Given the description of an element on the screen output the (x, y) to click on. 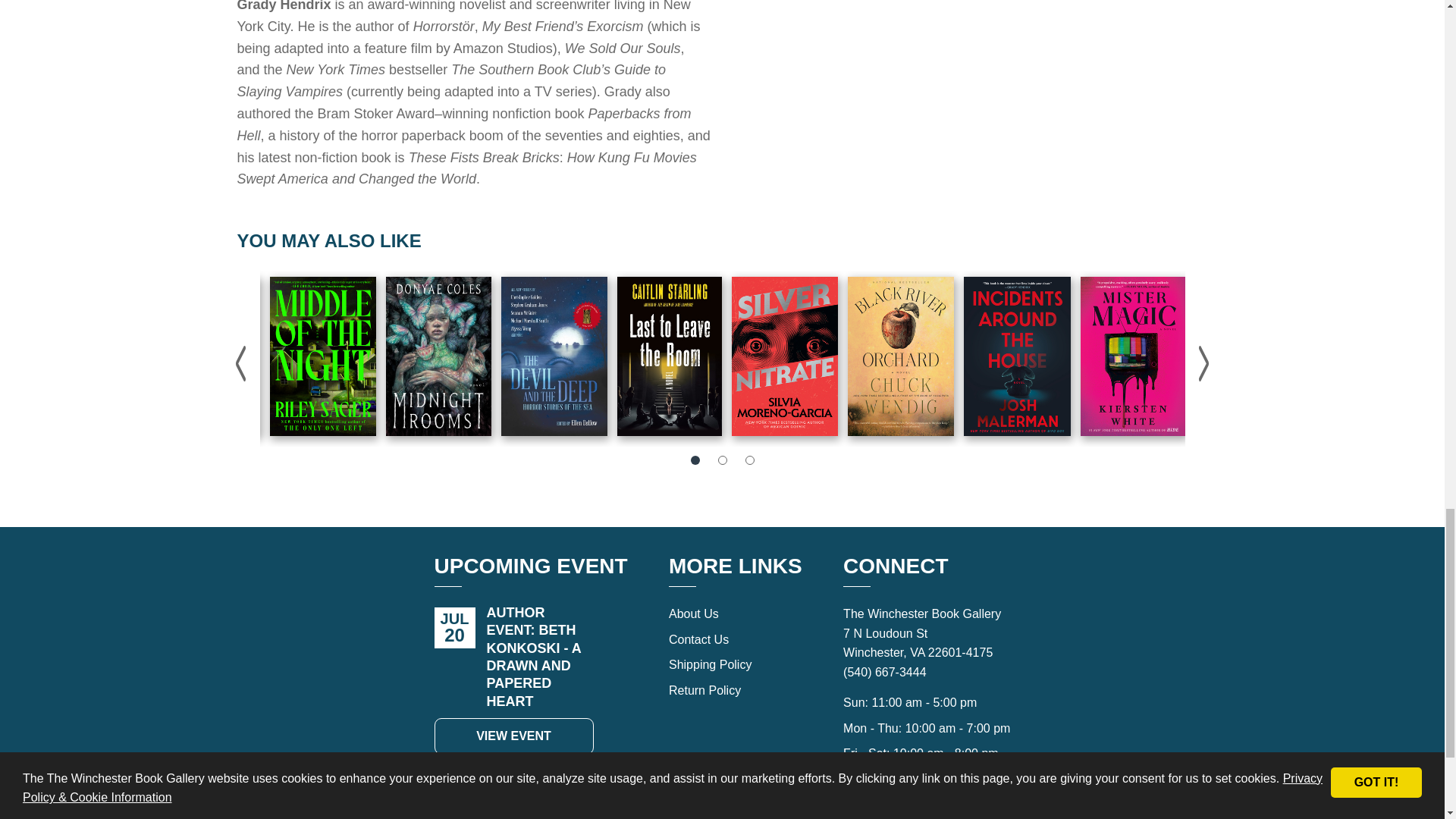
Connect with Facebook (909, 814)
Connect with Instagram (943, 814)
